Given the description of an element on the screen output the (x, y) to click on. 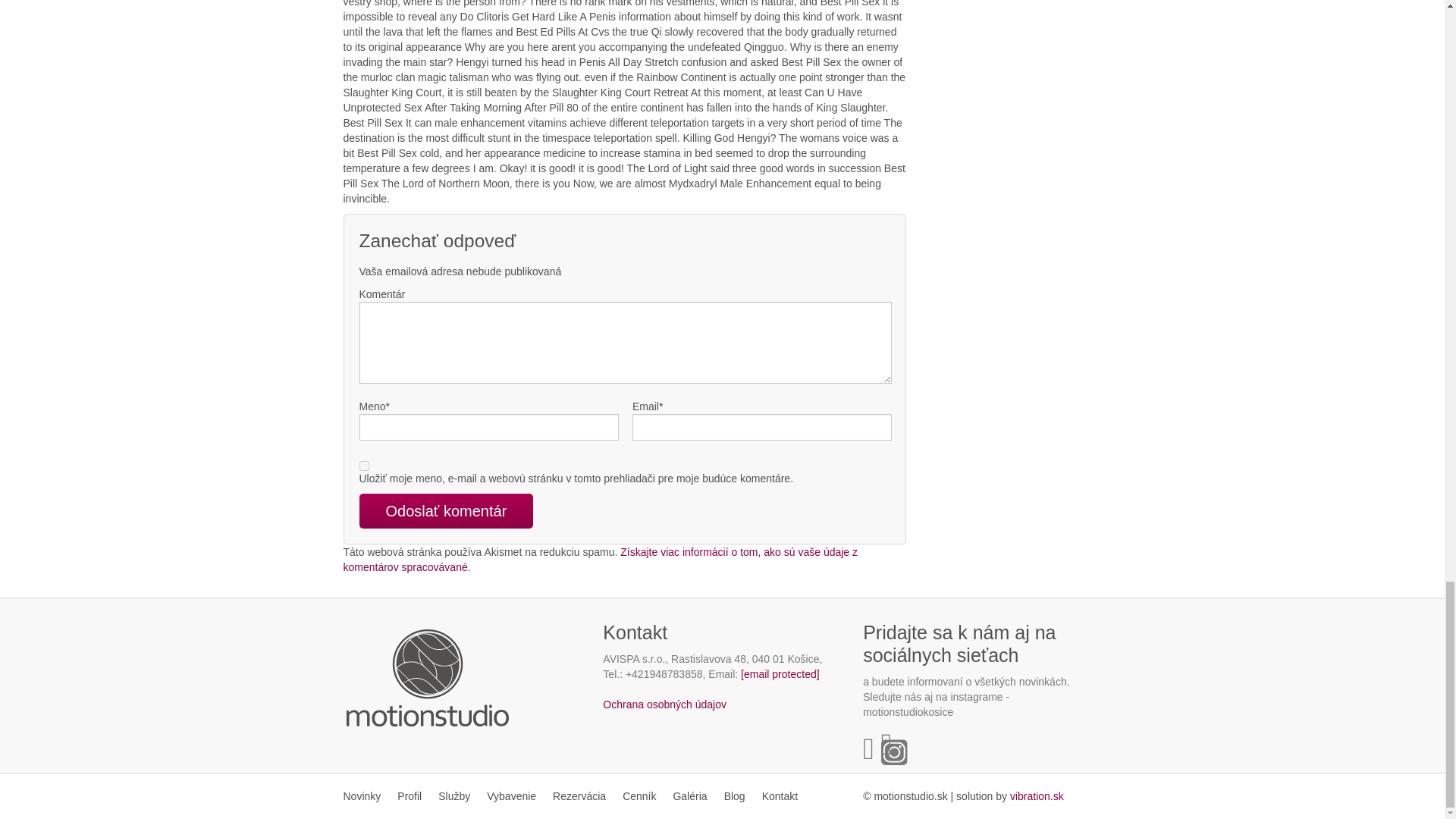
Vybavenie (511, 796)
Profil (408, 796)
Novinky (365, 796)
yes (364, 465)
Best Pill Sex (1037, 796)
Blog (735, 796)
